Given the description of an element on the screen output the (x, y) to click on. 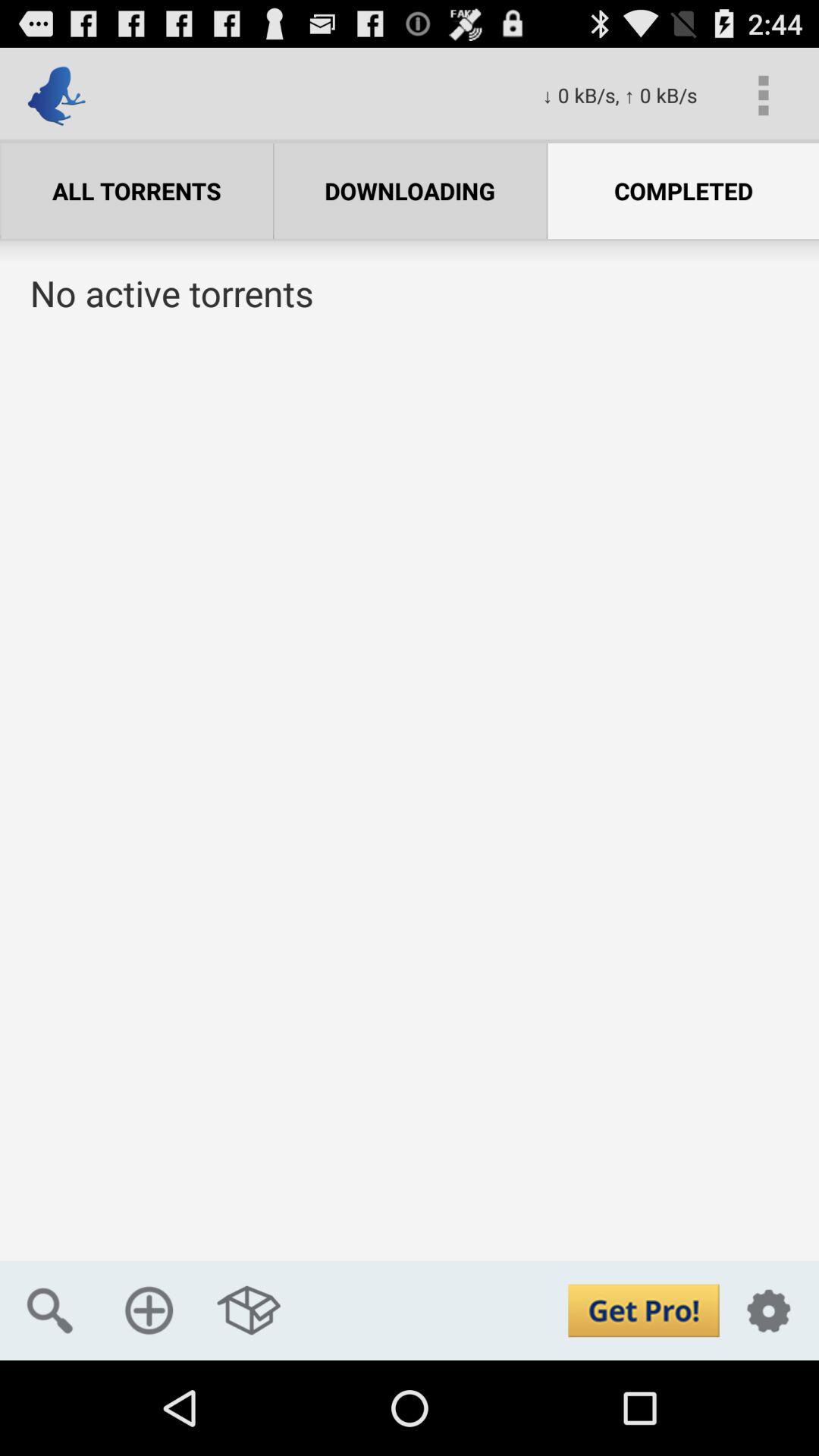
upgrade option (643, 1310)
